Given the description of an element on the screen output the (x, y) to click on. 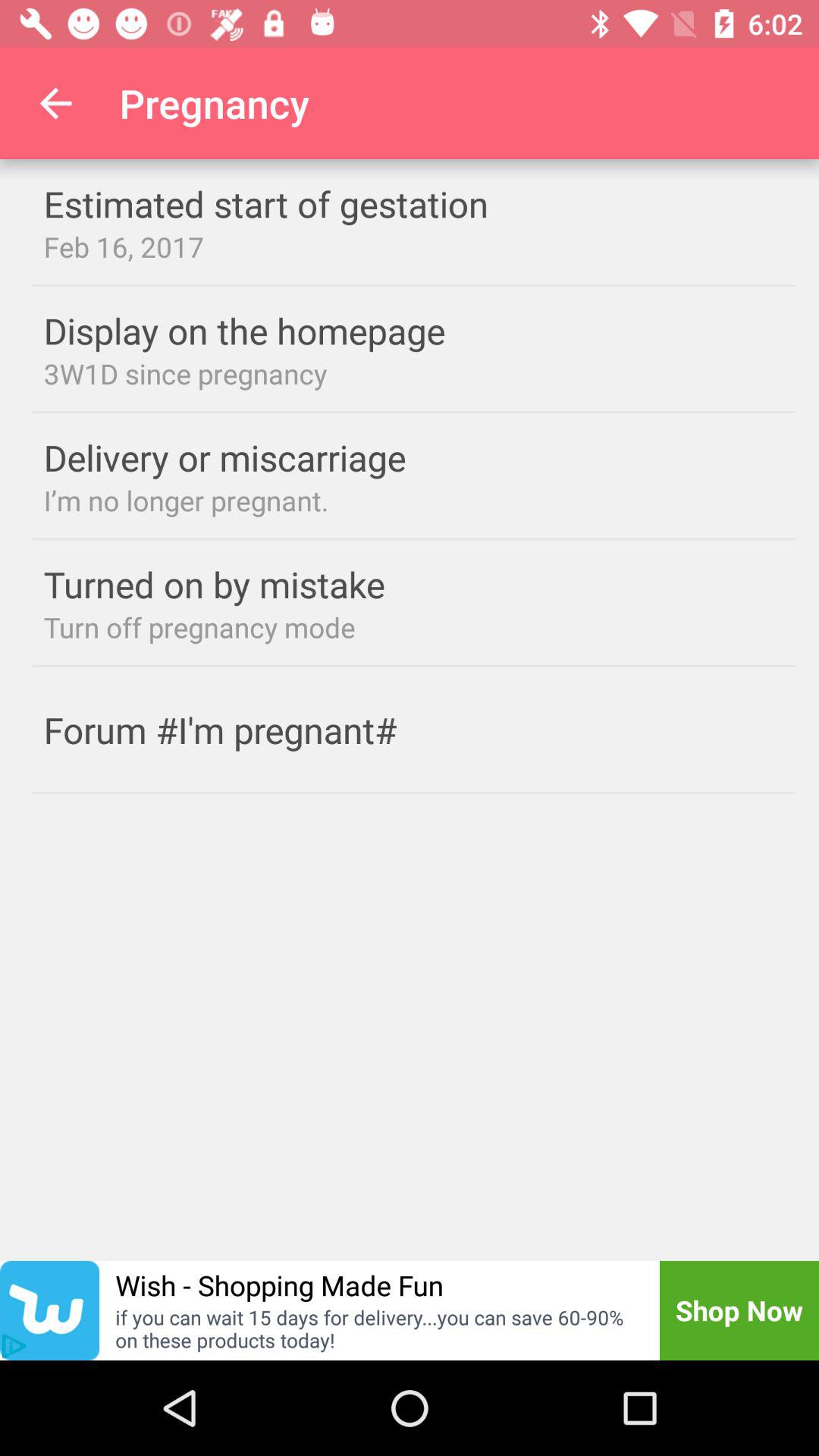
turn off the icon to the left of shop now item (279, 1285)
